Given the description of an element on the screen output the (x, y) to click on. 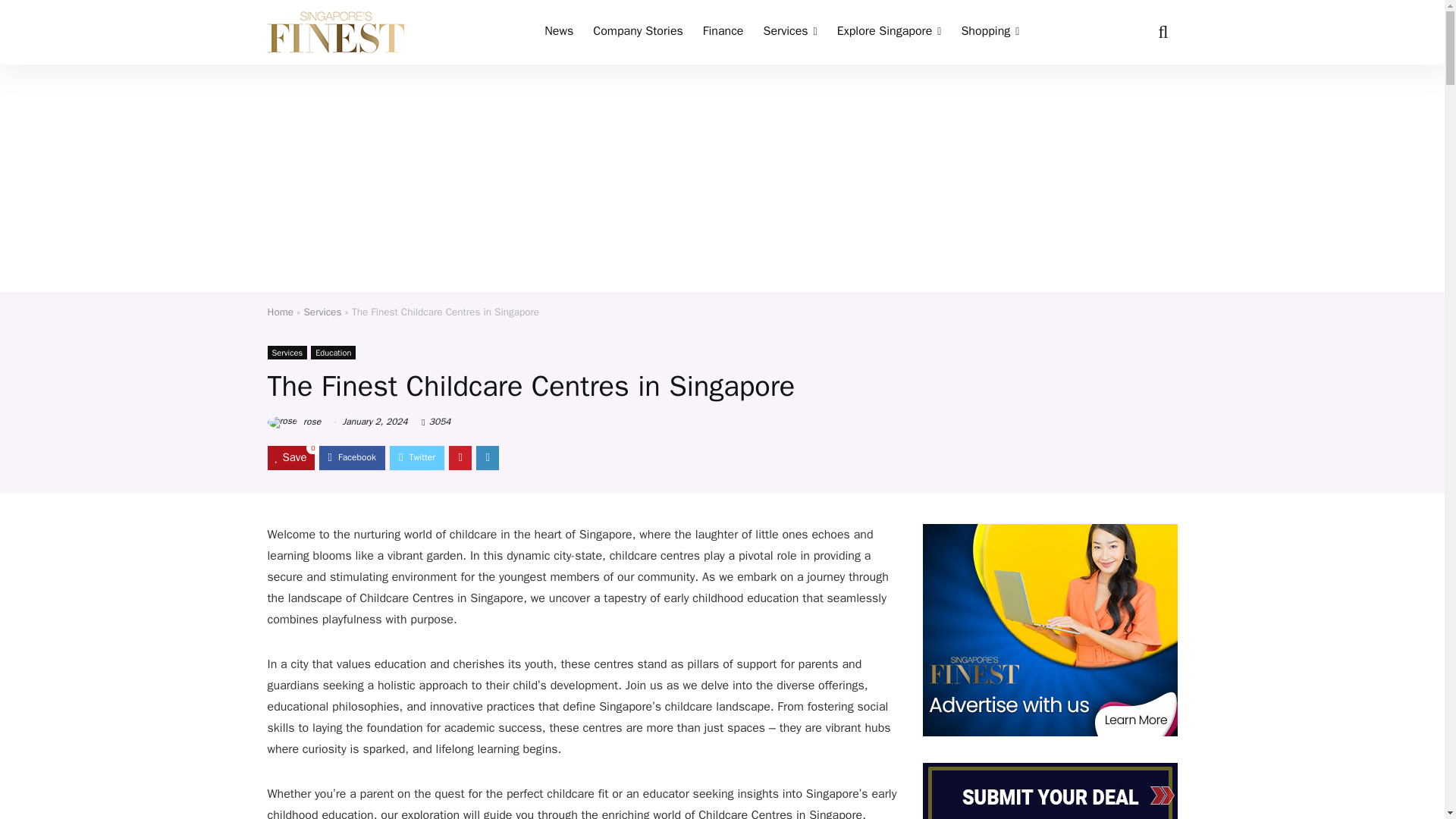
Finance (723, 32)
Company Stories (638, 32)
Explore Singapore (889, 32)
News (558, 32)
Services (789, 32)
View all posts in Services (286, 352)
View all posts in Education (333, 352)
Shopping (989, 32)
